Given the description of an element on the screen output the (x, y) to click on. 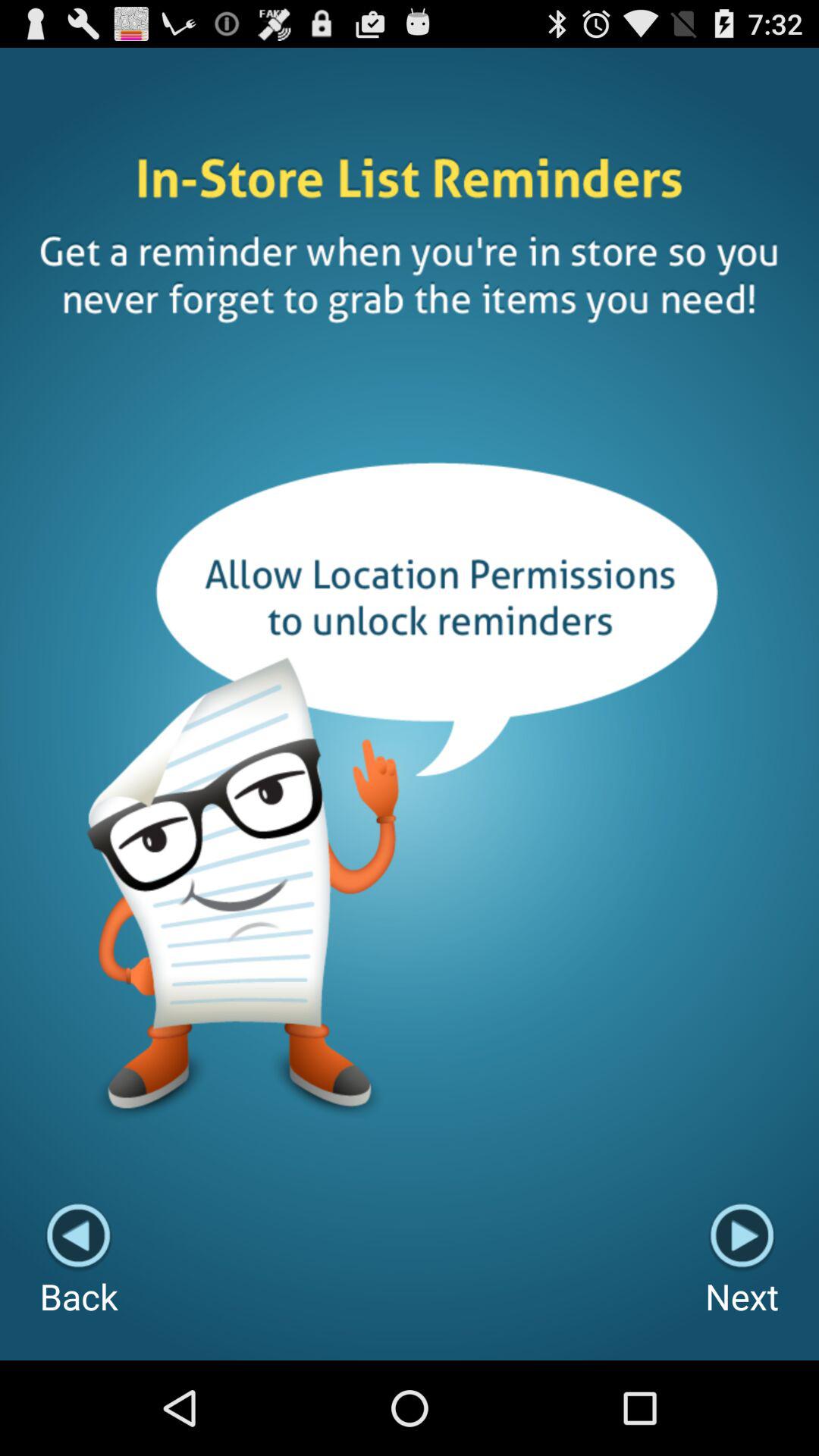
launch item at the bottom left corner (79, 1260)
